Given the description of an element on the screen output the (x, y) to click on. 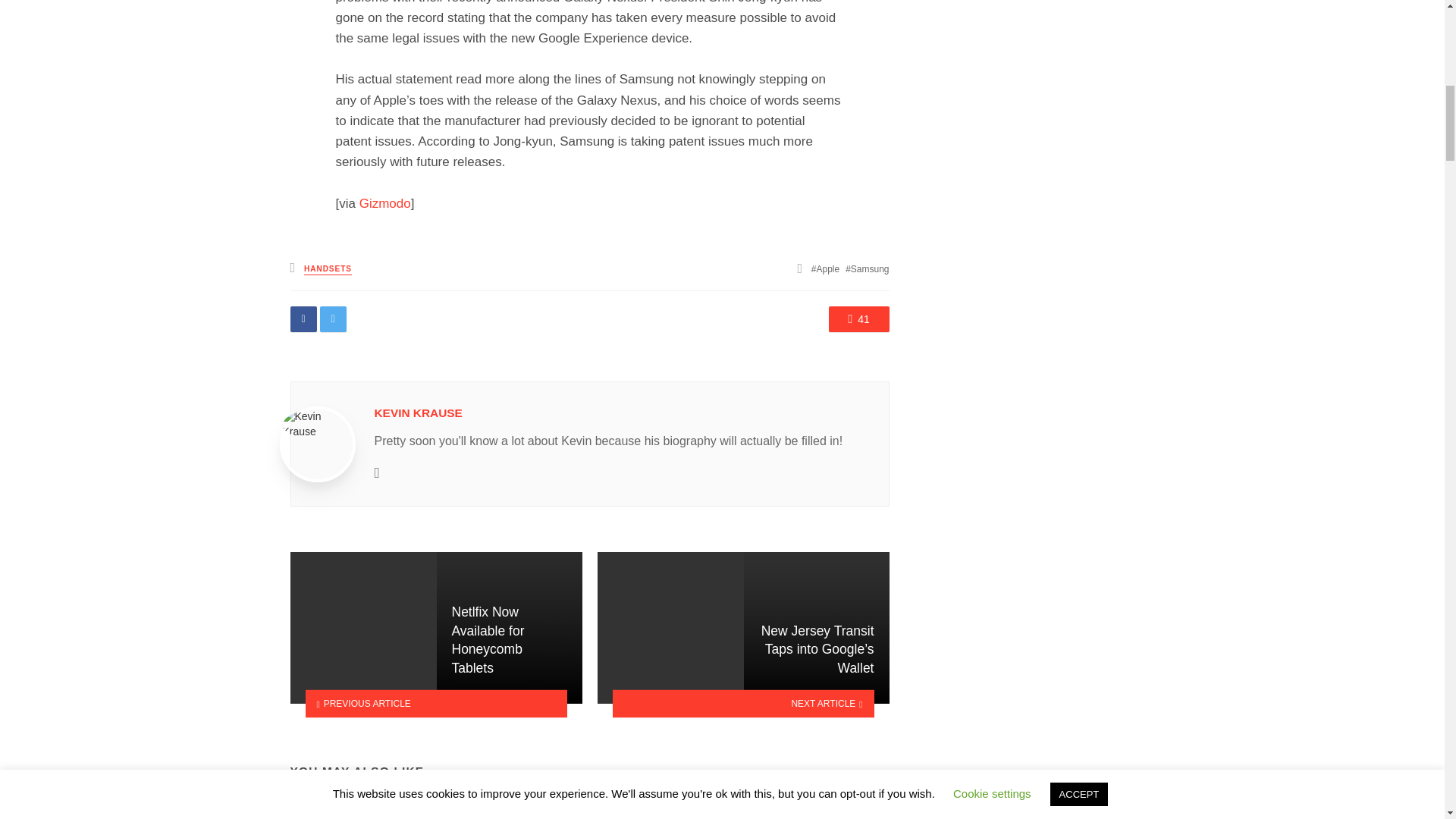
Posts by Kevin Krause (418, 412)
Gizmodo (384, 203)
HANDSETS (328, 269)
Website (377, 472)
41 (858, 319)
PREVIOUS ARTICLE (434, 703)
Samsung (866, 268)
Apple (825, 268)
KEVIN KRAUSE (418, 412)
